Given the description of an element on the screen output the (x, y) to click on. 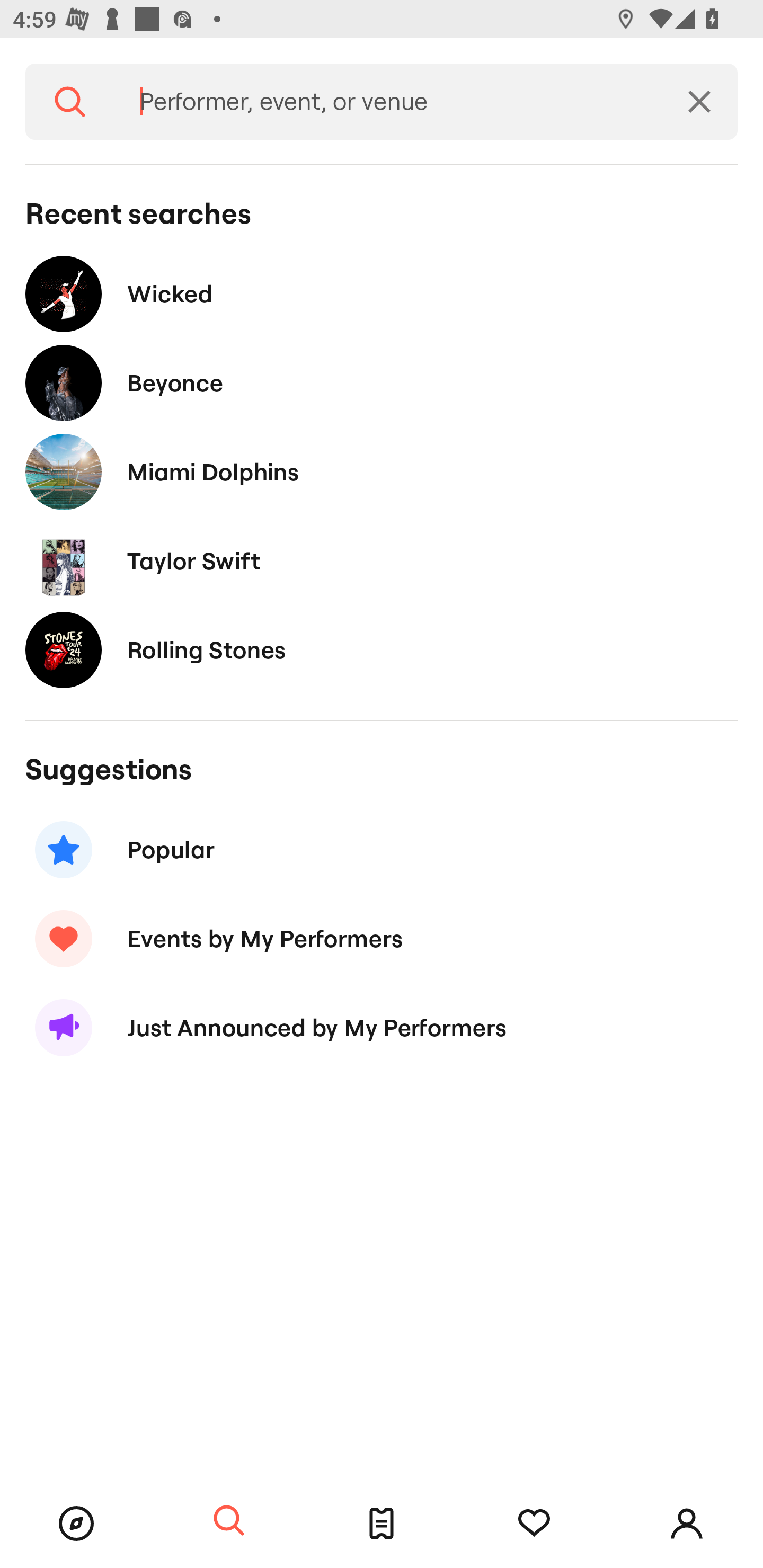
Search (69, 101)
Performer, event, or venue (387, 101)
Clear (699, 101)
Wicked (381, 293)
Beyonce (381, 383)
Miami Dolphins (381, 471)
Taylor Swift (381, 560)
Rolling Stones (381, 649)
Popular (381, 849)
Events by My Performers (381, 938)
Just Announced by My Performers (381, 1027)
Browse (76, 1523)
Search (228, 1521)
Tickets (381, 1523)
Tracking (533, 1523)
Account (686, 1523)
